Given the description of an element on the screen output the (x, y) to click on. 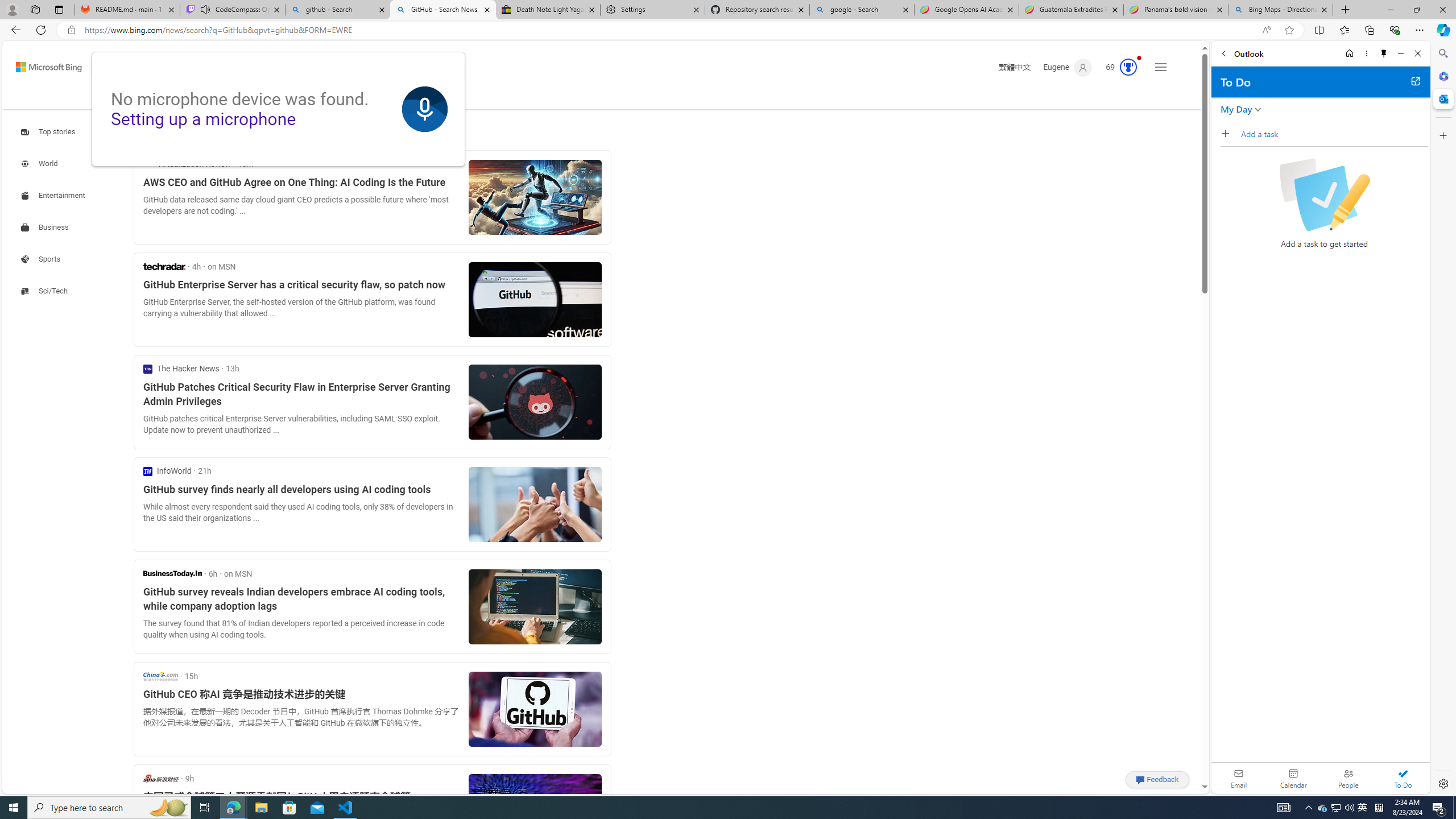
SEARCH (124, 96)
Workspaces (34, 9)
Feedback (1157, 779)
Email (1238, 777)
Settings (652, 9)
Unpin side pane (1383, 53)
google - Search (861, 9)
Personal Profile (12, 9)
COPILOT (178, 98)
Close Outlook pane (1442, 98)
Search news from InfoWorld (167, 470)
MORE (395, 98)
